Given the description of an element on the screen output the (x, y) to click on. 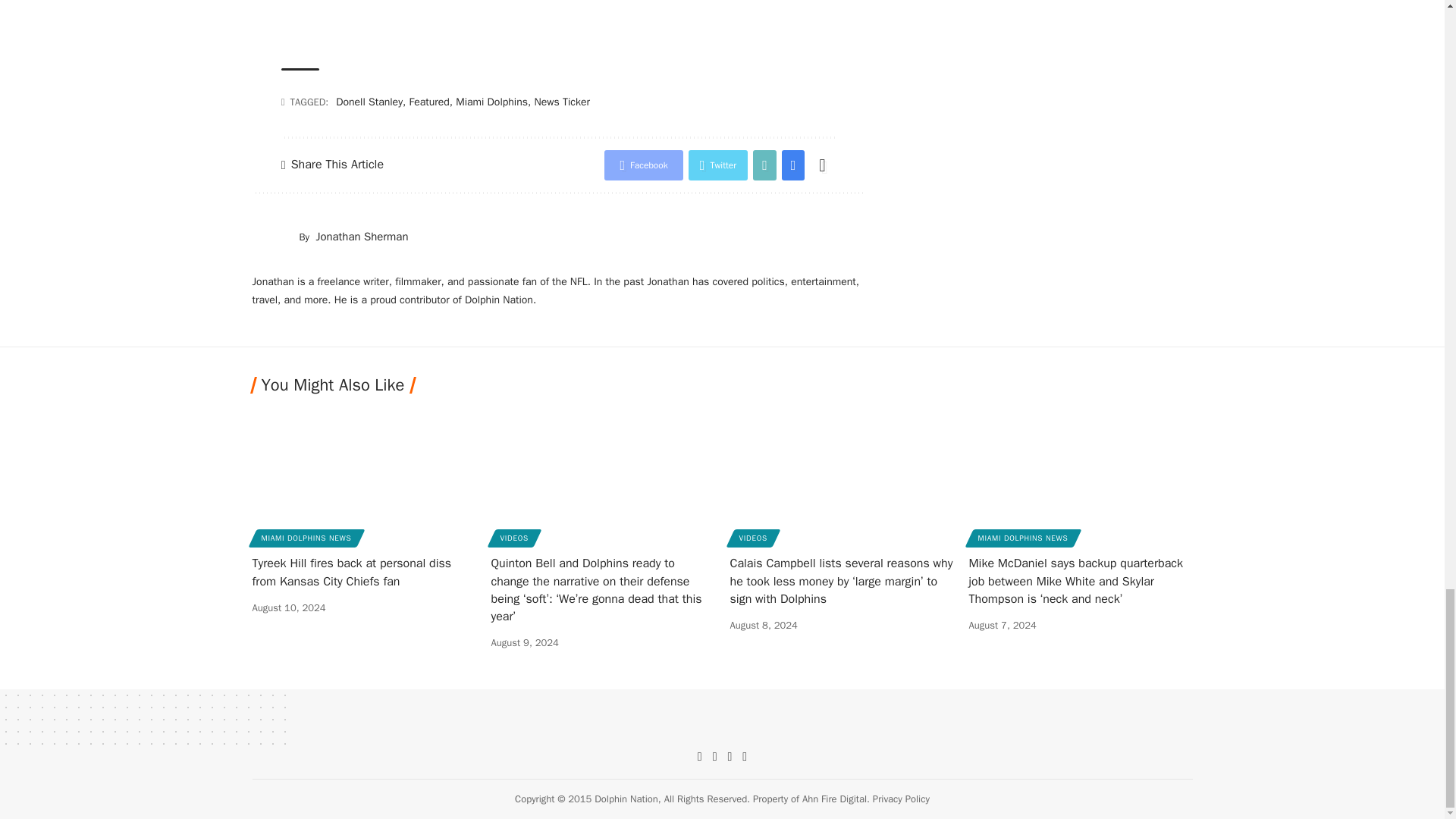
News Ticker (561, 101)
Featured (428, 101)
Miami Dolphins (491, 101)
Donell Stanley (369, 101)
Facebook (643, 164)
